Given the description of an element on the screen output the (x, y) to click on. 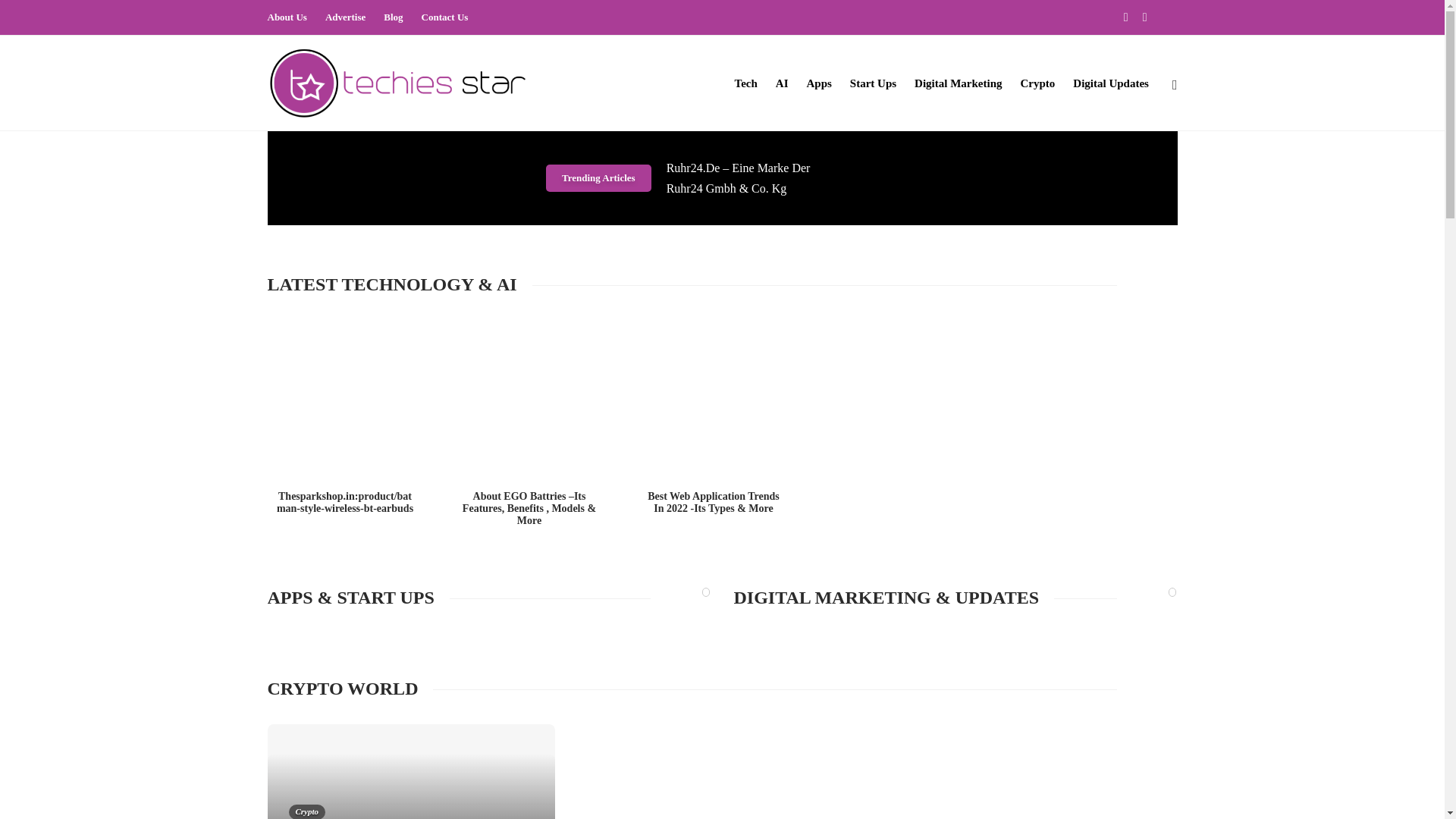
Contact Us (445, 17)
Digital Updates (1110, 83)
Digital Marketing (957, 83)
Advertise (344, 17)
About Us (285, 17)
